Given the description of an element on the screen output the (x, y) to click on. 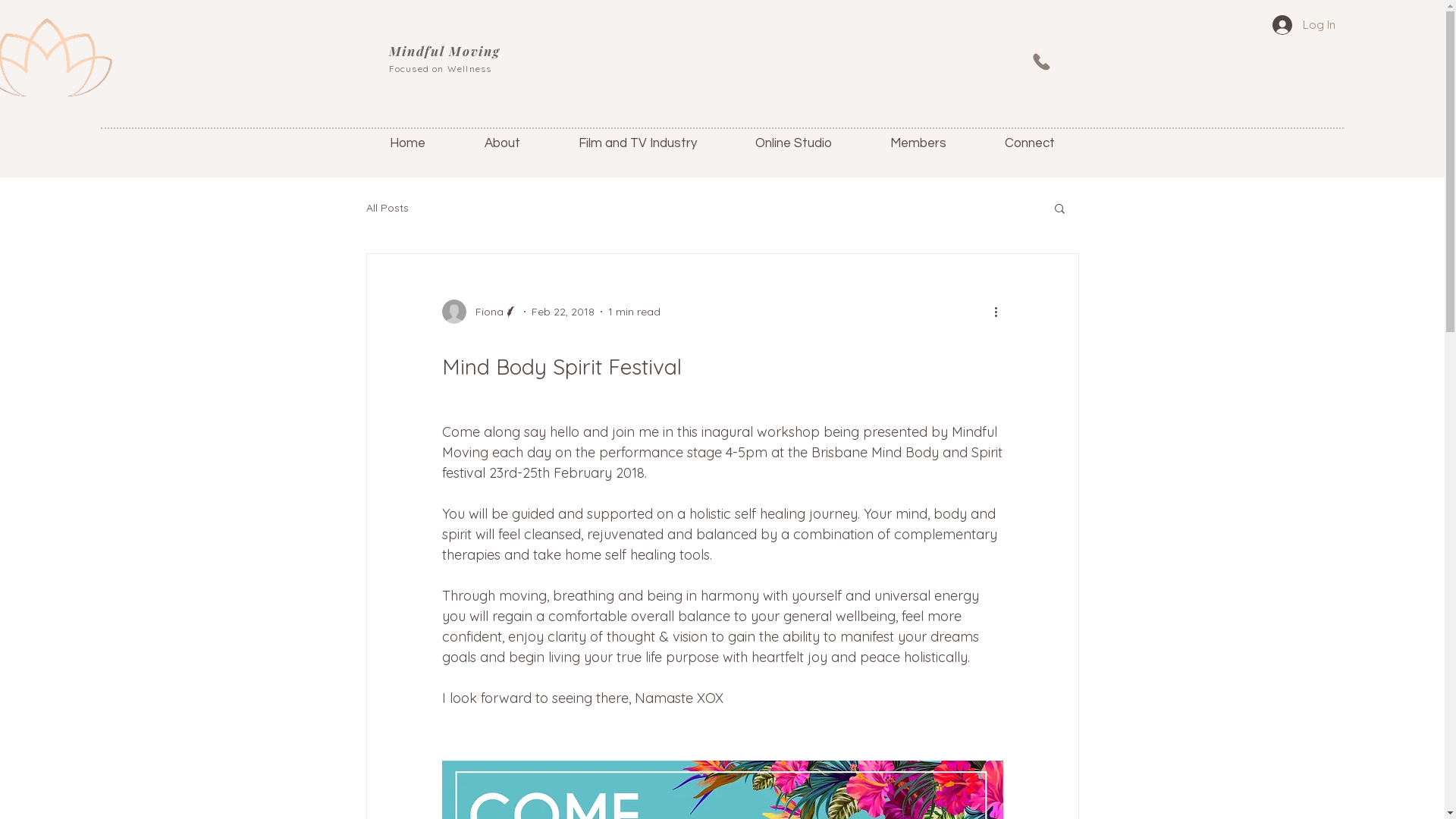
Connect Element type: text (1029, 143)
Log In Element type: text (1303, 24)
Members Element type: text (918, 143)
Fiona Element type: text (479, 311)
Online Studio Element type: text (793, 143)
All Posts Element type: text (386, 207)
Home Element type: text (406, 143)
Film and TV Industry Element type: text (637, 143)
About Element type: text (502, 143)
